Given the description of an element on the screen output the (x, y) to click on. 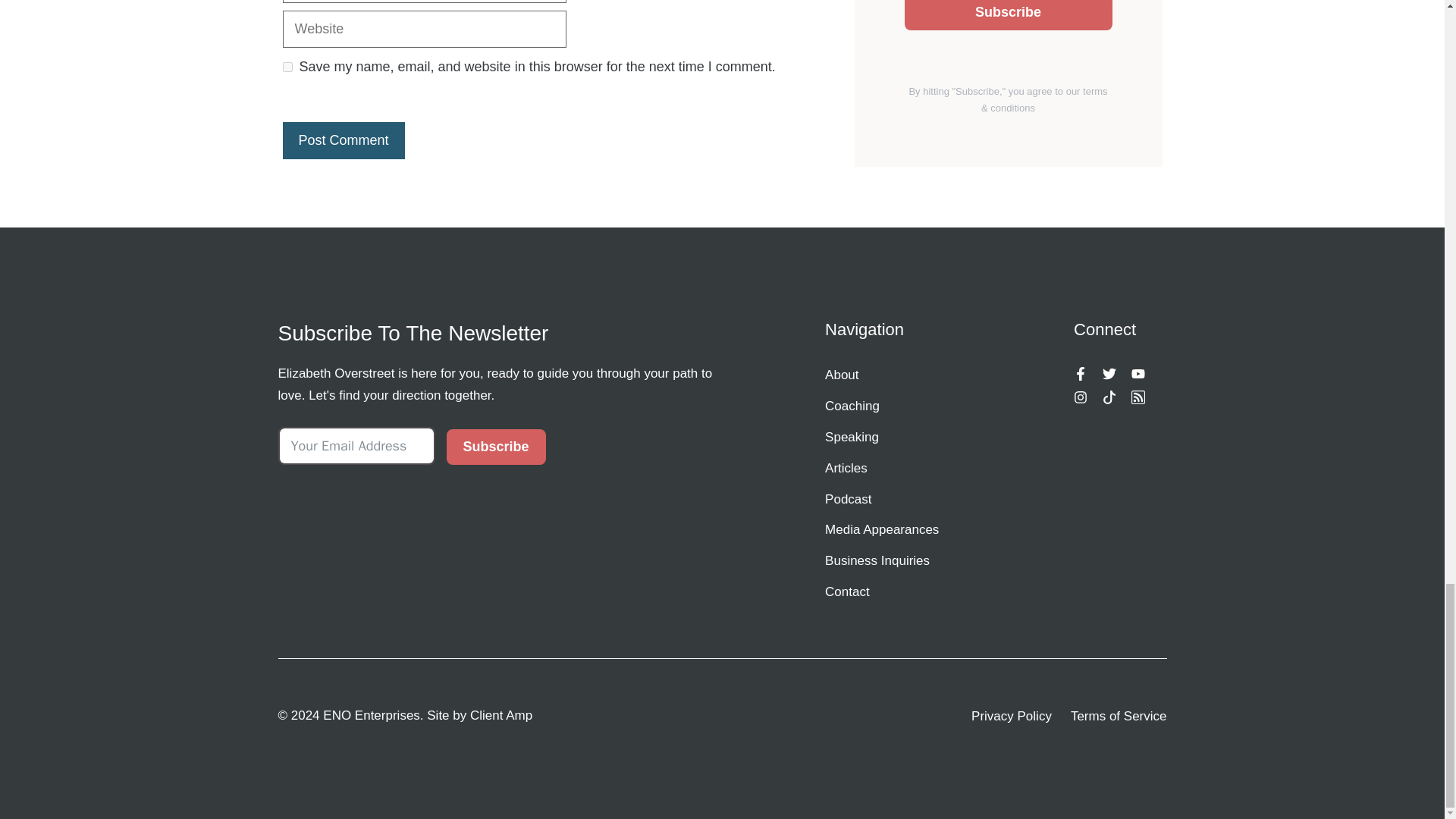
Speaking (896, 437)
About (896, 375)
Post Comment (343, 140)
Subscribe (494, 447)
Coaching (896, 406)
Podcast (896, 499)
yes (287, 67)
Post Comment (343, 140)
Media Appearances (896, 530)
Business Inquiries (896, 561)
Articles (896, 468)
